Given the description of an element on the screen output the (x, y) to click on. 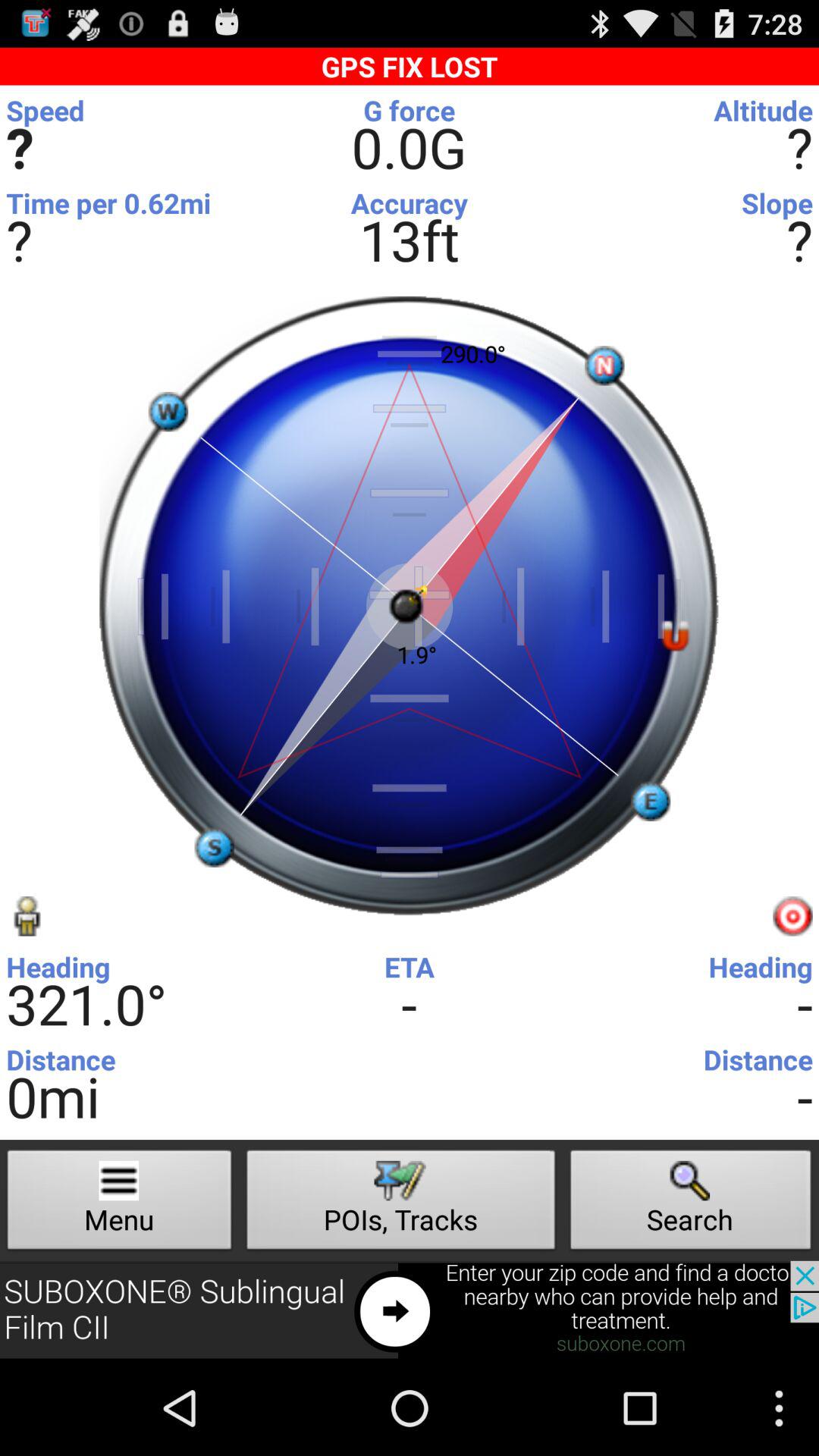
click on the icon above left corner of heading (25, 916)
select the image on the center line of the web page (409, 606)
